Given the description of an element on the screen output the (x, y) to click on. 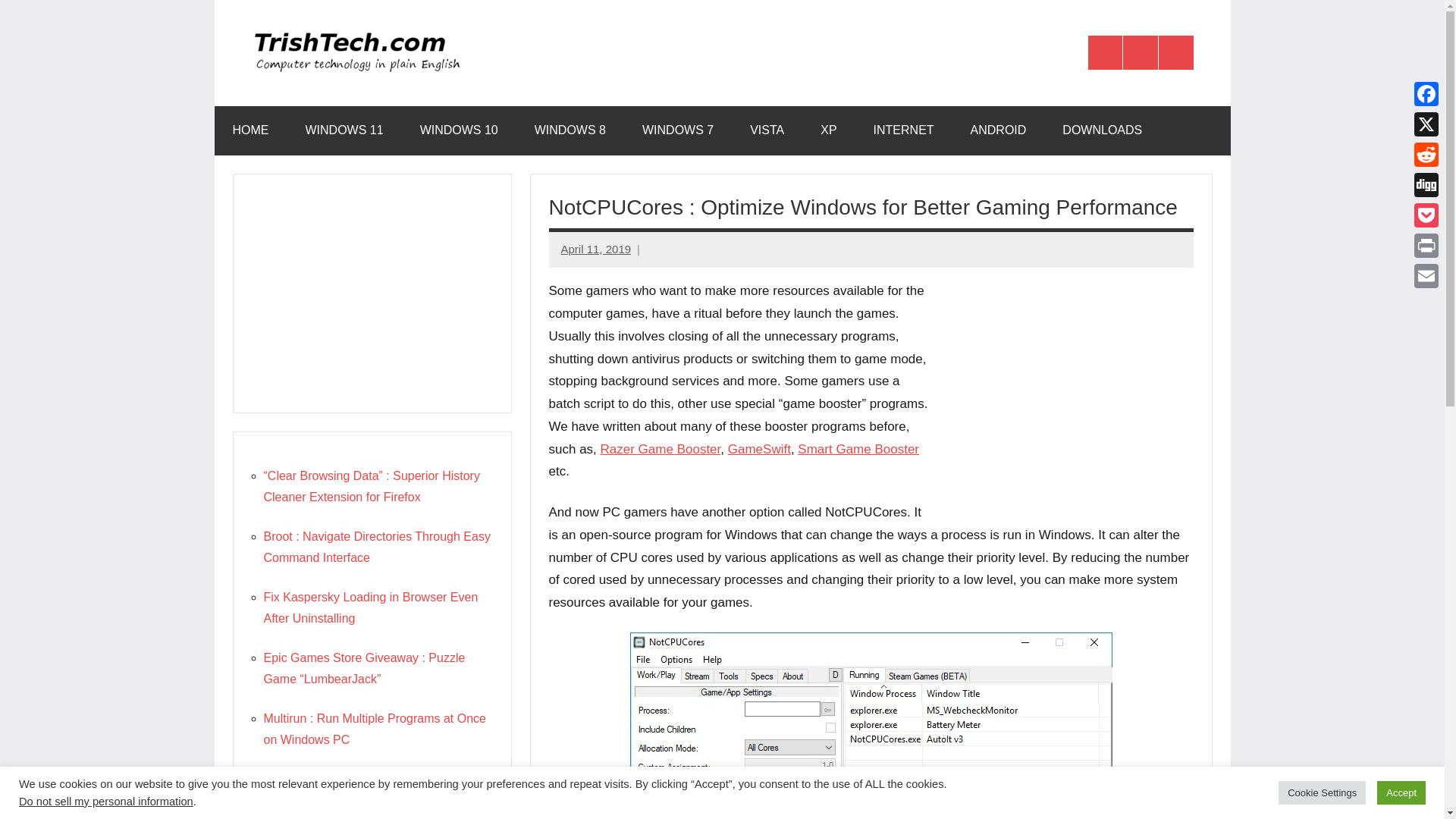
GameSwift (759, 449)
X (1139, 53)
Reddit (1425, 154)
INTERNET (904, 130)
X (1425, 123)
YouTube (1175, 53)
Razer Game Booster (659, 449)
X (1425, 123)
Facebook (1104, 53)
April 11, 2019 (595, 248)
WINDOWS 11 (343, 130)
Print (1425, 245)
XP (828, 130)
Broot : Navigate Directories Through Easy Command Interface (376, 546)
ANDROID (998, 130)
